Given the description of an element on the screen output the (x, y) to click on. 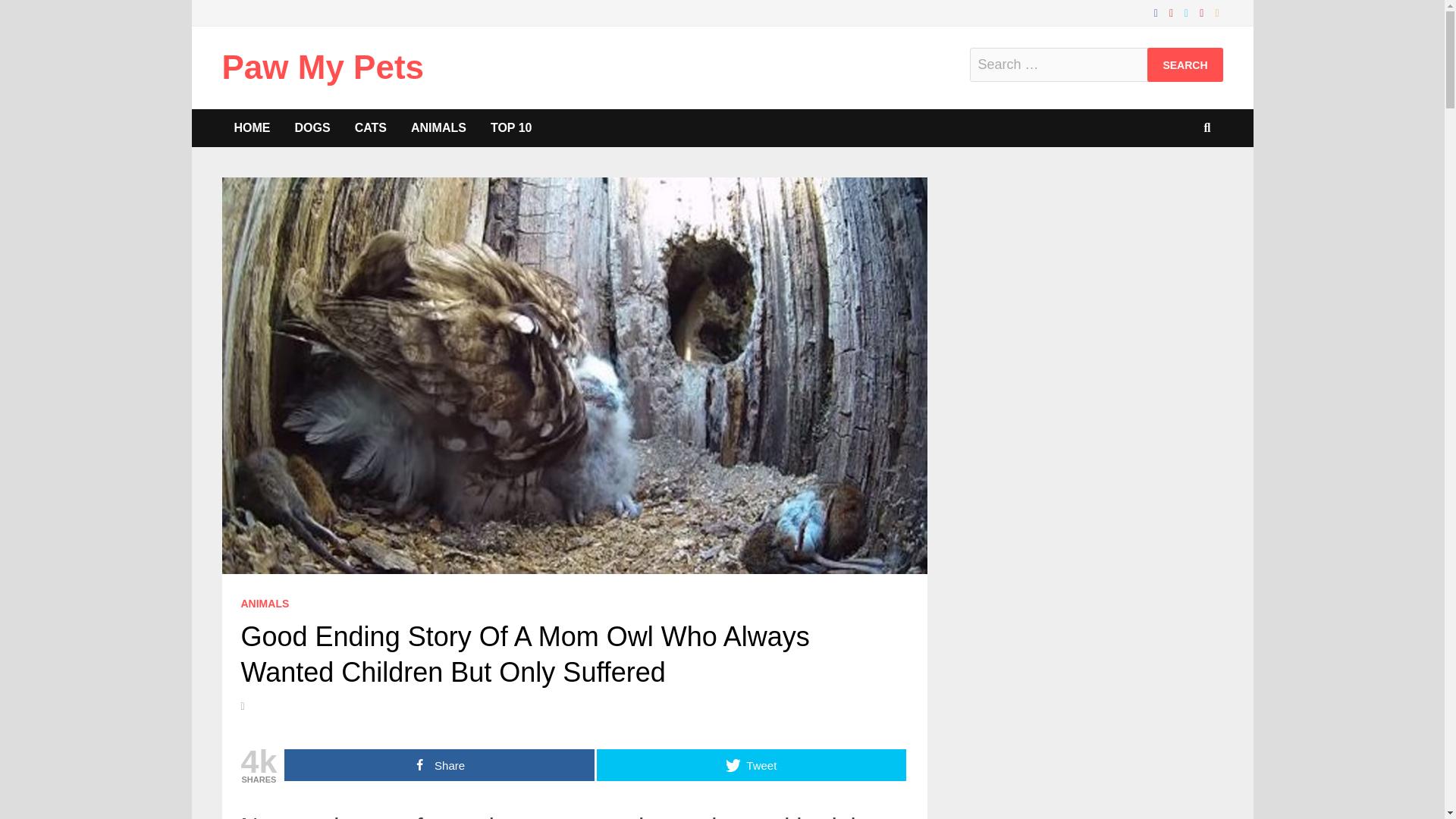
HOME (251, 127)
Share (438, 765)
ANIMALS (438, 127)
Tweet (750, 765)
ANIMALS (265, 603)
Youtube (1173, 11)
DOGS (312, 127)
TOP 10 (511, 127)
Twitter (1187, 11)
Search (1185, 64)
